Given the description of an element on the screen output the (x, y) to click on. 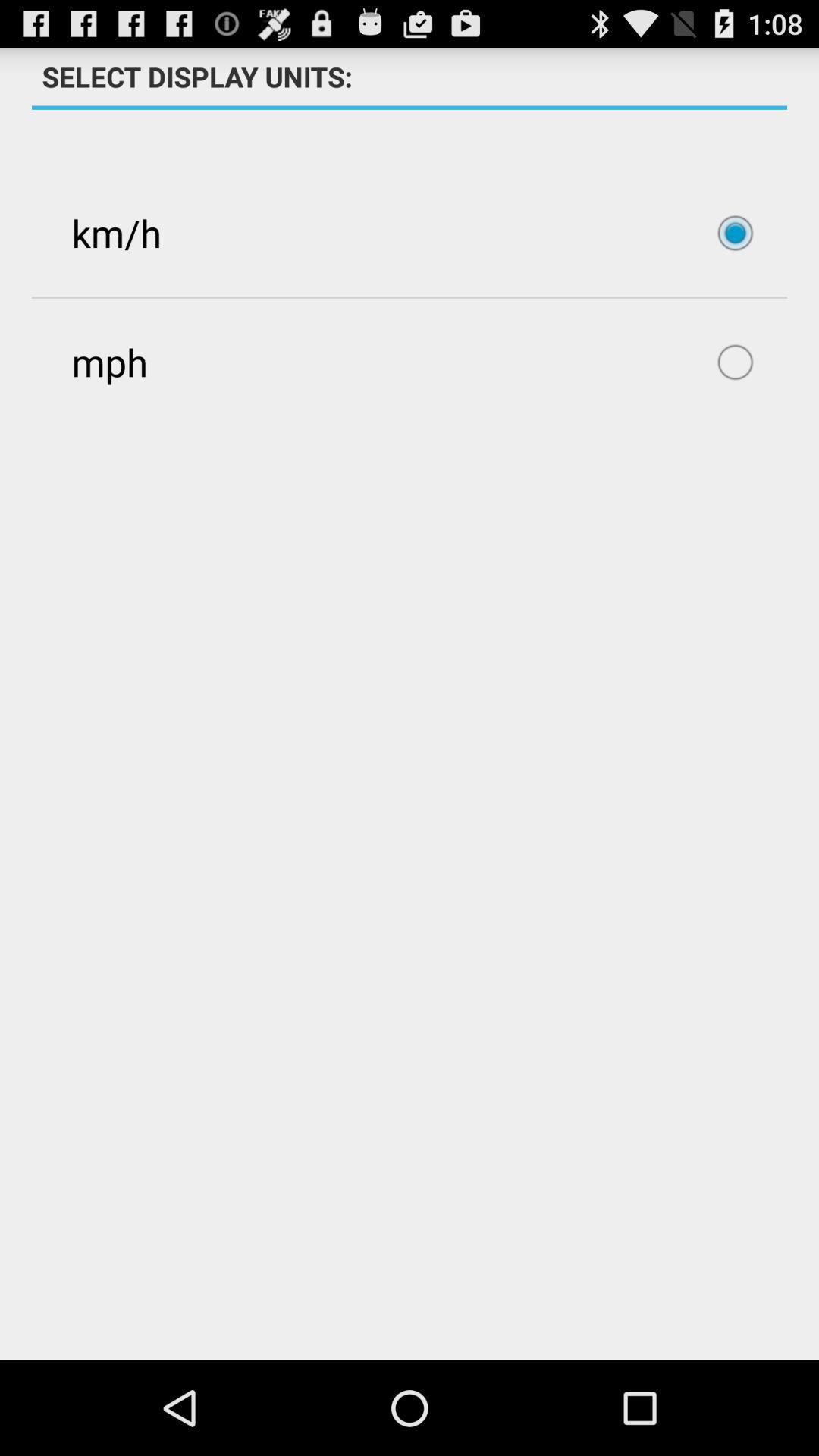
tap km/h (409, 232)
